Given the description of an element on the screen output the (x, y) to click on. 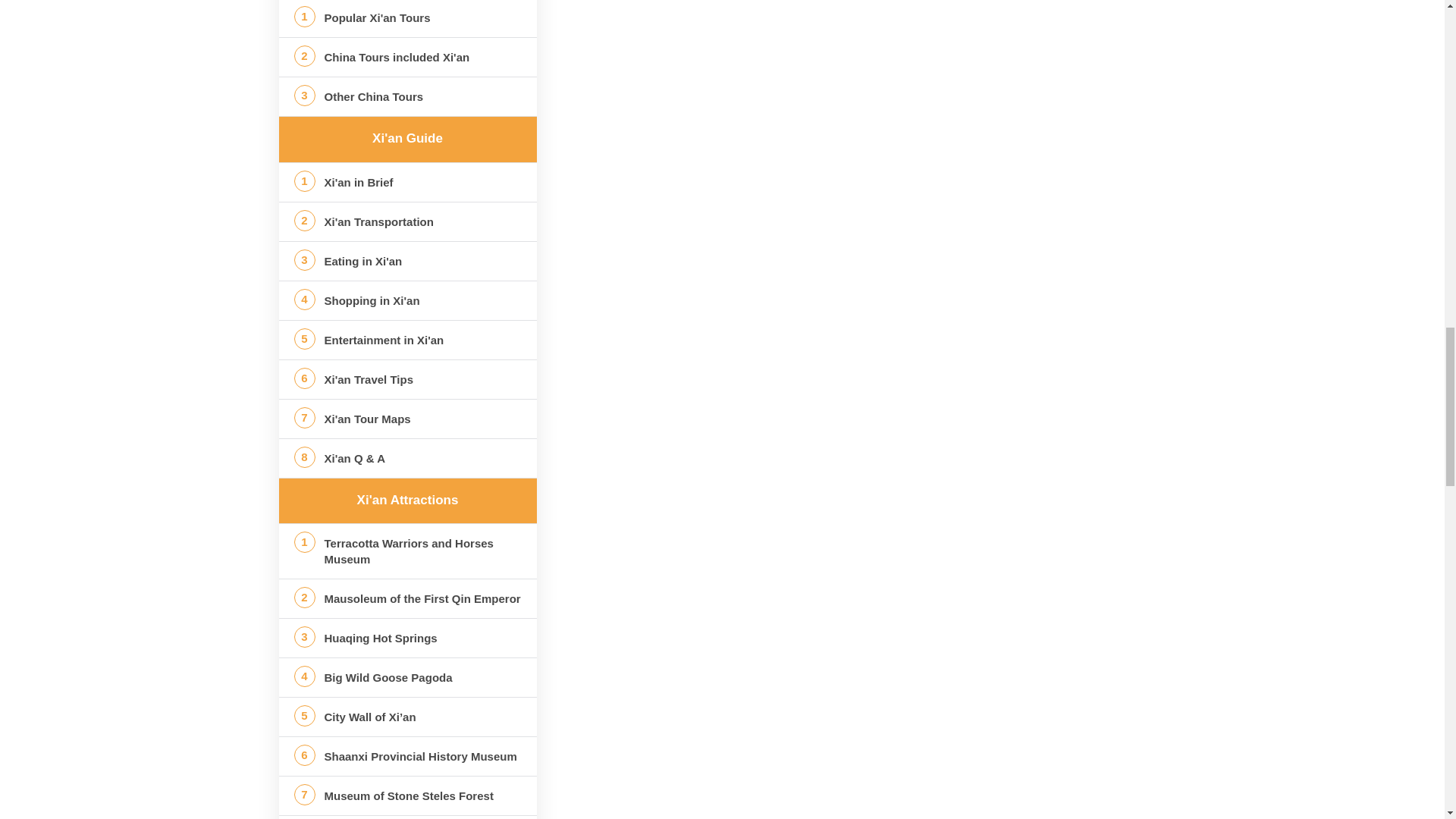
Xi'an Transportation (408, 221)
Xi'an Attractions (407, 499)
Eating in Xi'an (408, 260)
China Tours included Xi'an (408, 56)
Xi'an in Brief (408, 182)
Terracotta Warriors and Horses Museum (408, 551)
Shopping in Xi'an (408, 300)
Xi'an Travel Tips (408, 379)
Big Wild Goose Pagoda (408, 677)
Xi'an Tour Maps (408, 418)
